Given the description of an element on the screen output the (x, y) to click on. 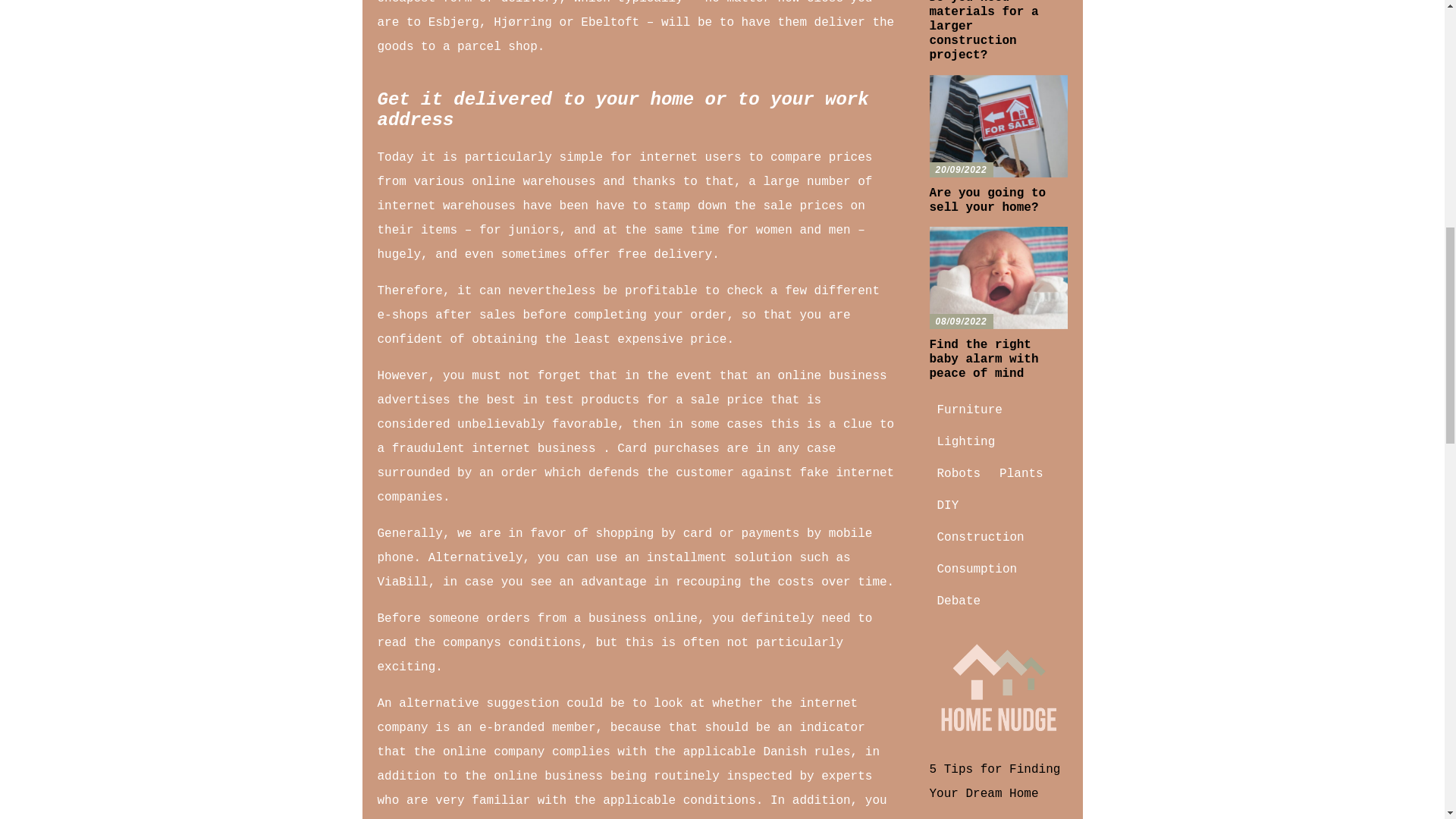
5 Tips for Finding Your Dream Home (995, 781)
